Given the description of an element on the screen output the (x, y) to click on. 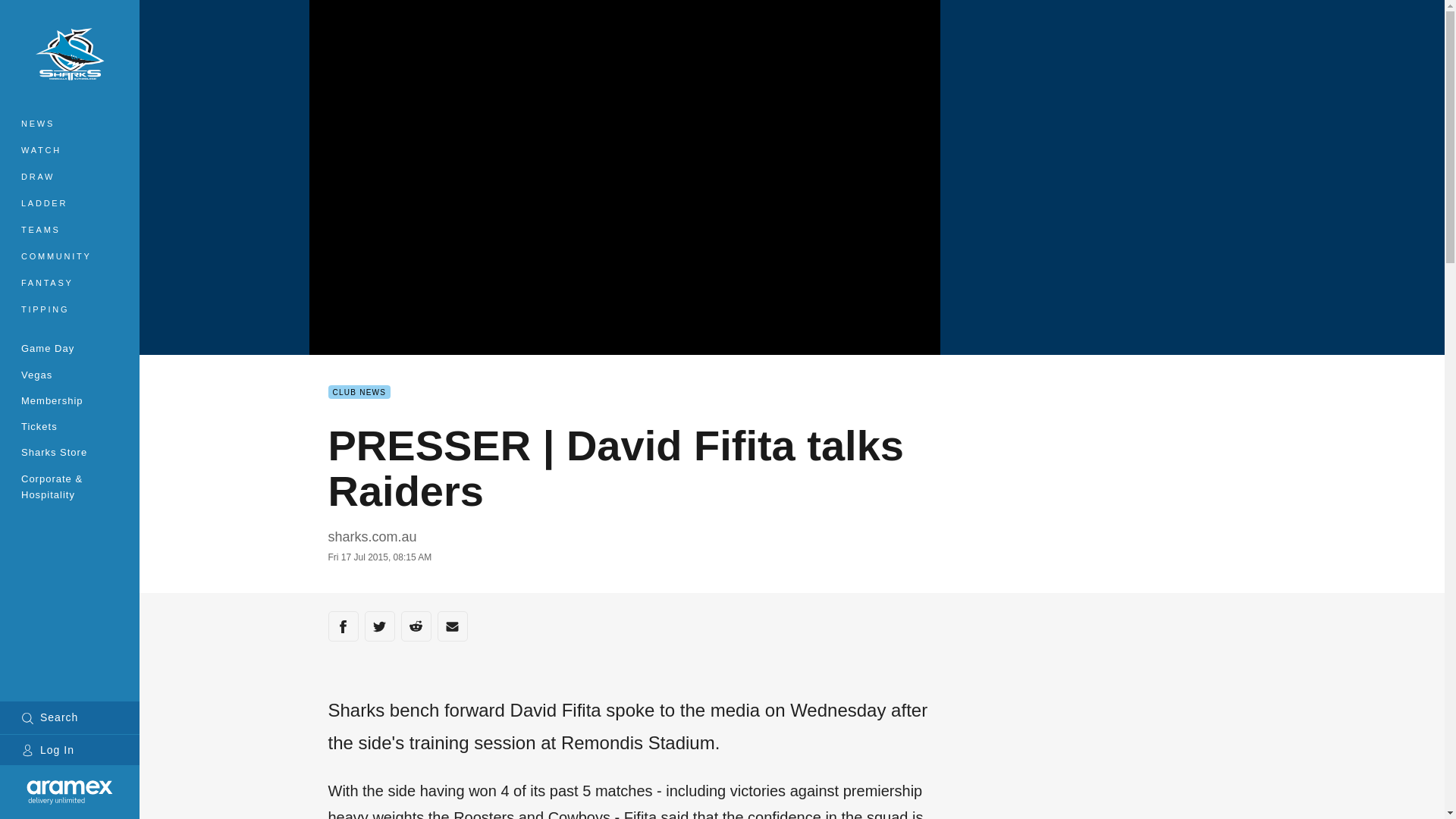
Share via Email (451, 625)
Search (69, 717)
LADDER (69, 203)
Sharks Store (69, 451)
Membership (69, 400)
TEAMS (69, 230)
Tickets (69, 425)
Game Day (69, 347)
Log In (69, 749)
NEWS (69, 123)
